Given the description of an element on the screen output the (x, y) to click on. 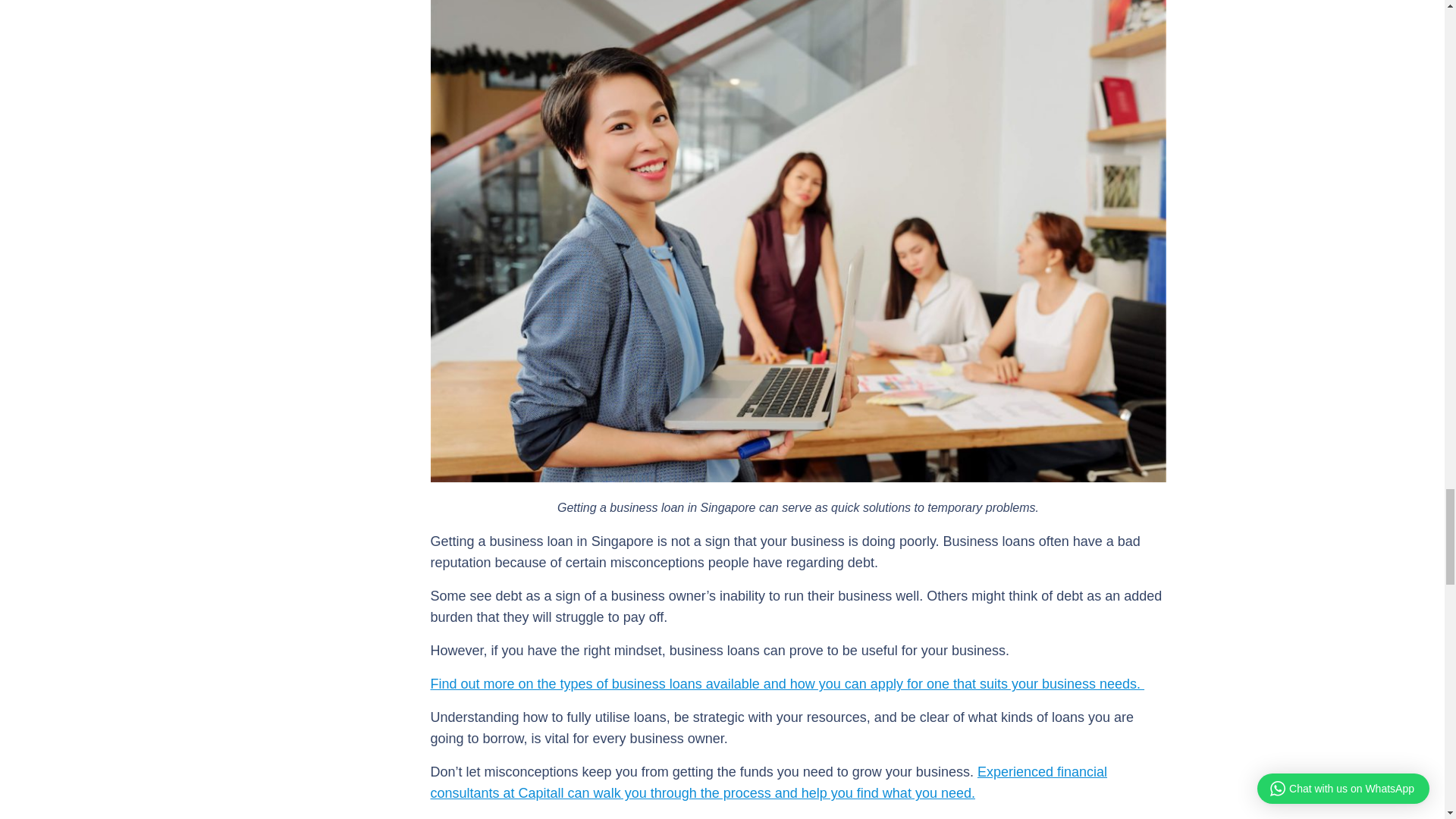
Business Loan Options Every Business Owner Should Know (787, 683)
